Given the description of an element on the screen output the (x, y) to click on. 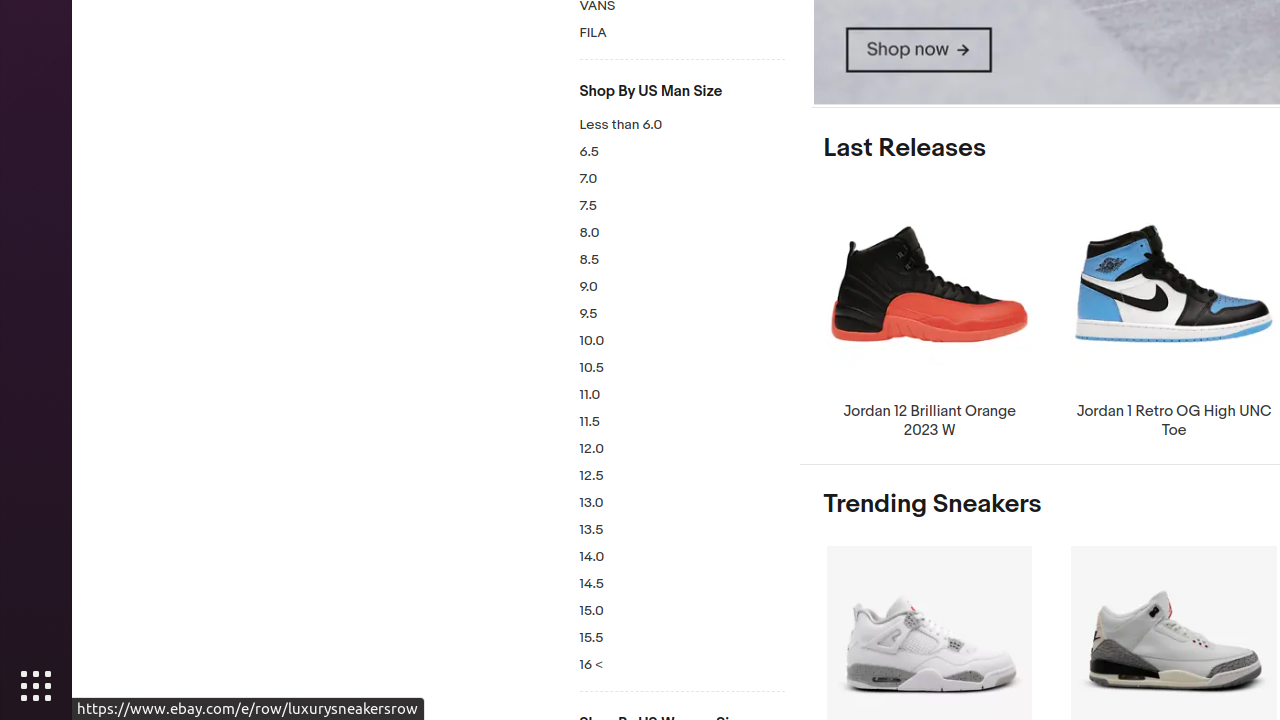
Jordan 12 Brilliant Orange 2023 W Element type: link (929, 314)
15.0 Element type: link (682, 611)
7.0 Element type: link (682, 179)
9.5 Element type: link (682, 314)
Less than 6.0 Element type: link (682, 125)
